Given the description of an element on the screen output the (x, y) to click on. 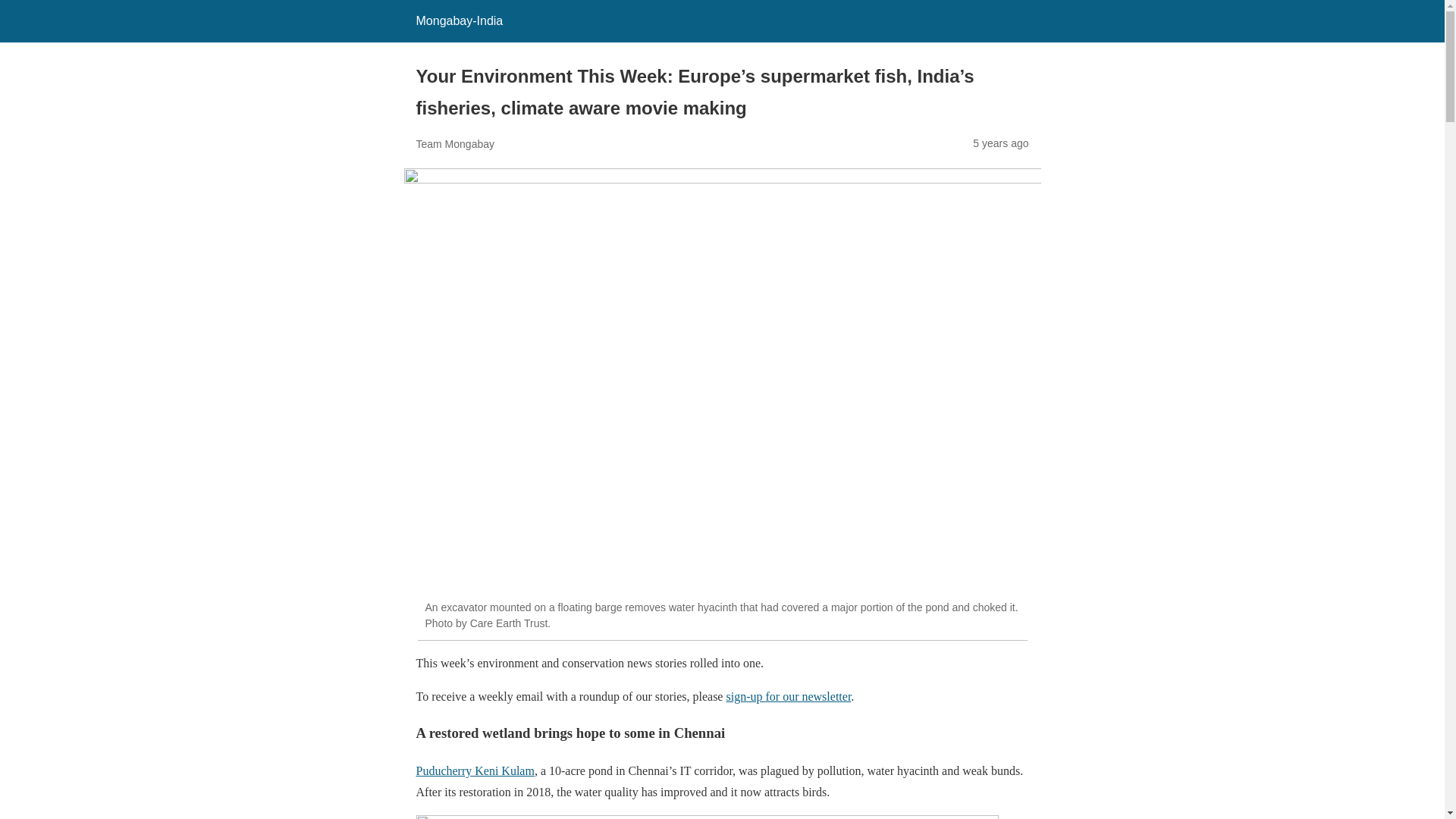
Mongabay-India (458, 20)
Puducherry Keni Kulam (474, 770)
sign-up for our newsletter (787, 696)
